Given the description of an element on the screen output the (x, y) to click on. 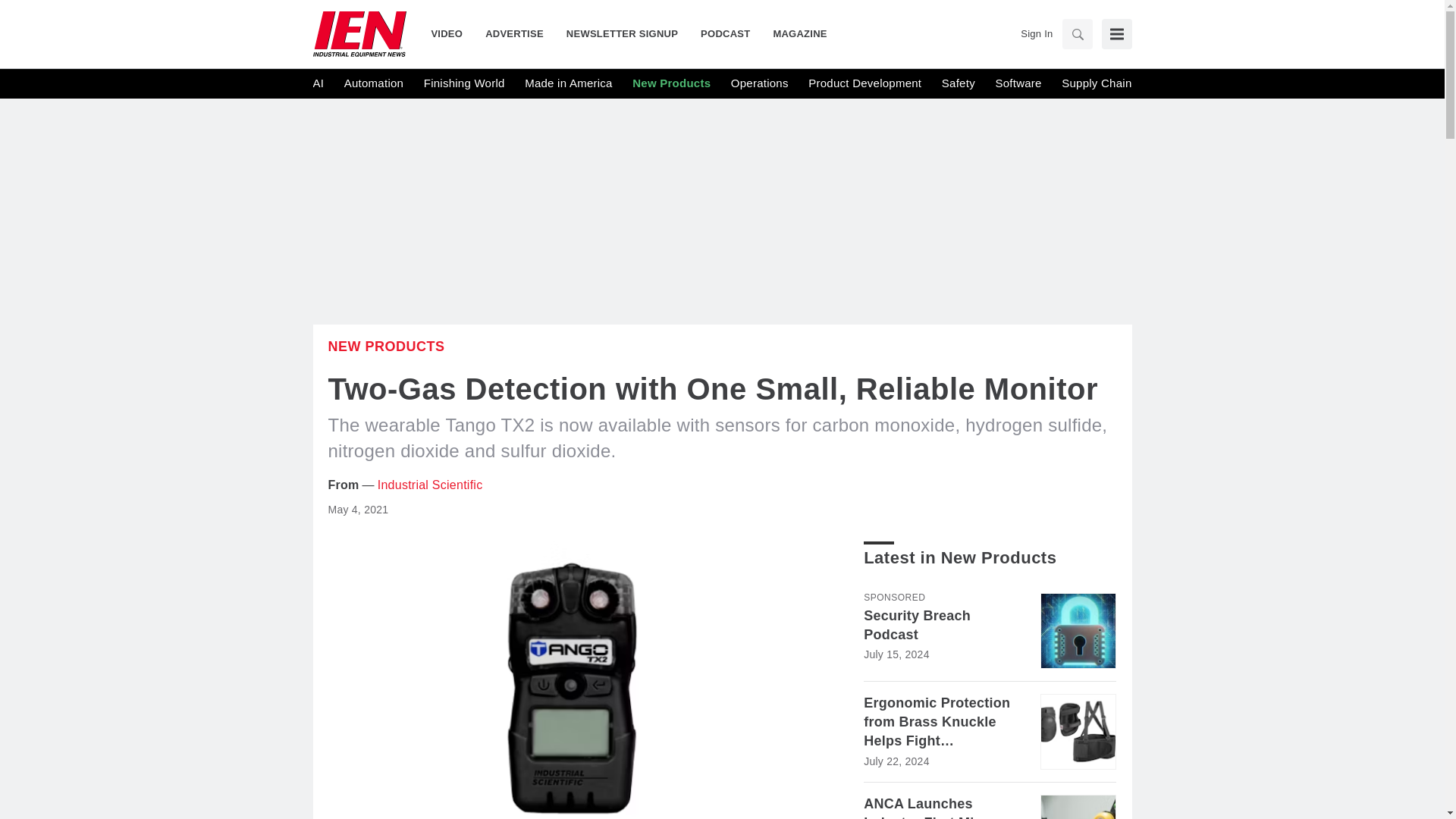
PODCAST (724, 33)
Supply Chain (1096, 83)
Made in America (567, 83)
Sign In (1036, 33)
New Products (670, 83)
NEWSLETTER SIGNUP (621, 33)
ADVERTISE (514, 33)
Finishing World (464, 83)
AI (318, 83)
Safety (958, 83)
Automation (373, 83)
Sponsored (893, 596)
MAGAZINE (794, 33)
New Products (385, 346)
Software (1017, 83)
